Given the description of an element on the screen output the (x, y) to click on. 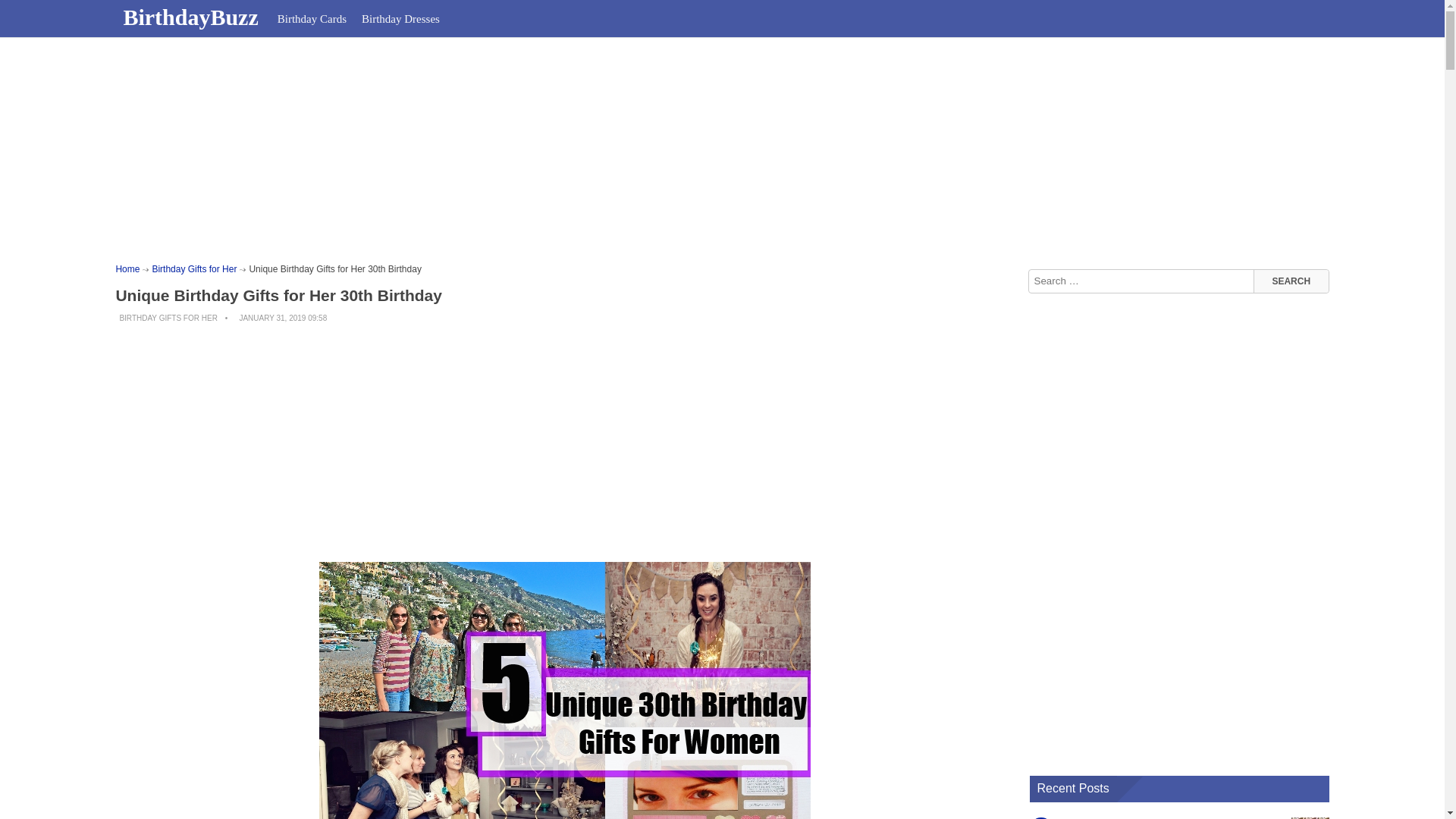
Search (1290, 281)
BIRTHDAY GIFTS FOR HER (167, 317)
BirthdayBuzz (192, 16)
Search (1290, 281)
Home (127, 268)
Birthday Dresses (399, 18)
Birthday Gifts for Her (193, 268)
Birthday Cards (311, 18)
